Given the description of an element on the screen output the (x, y) to click on. 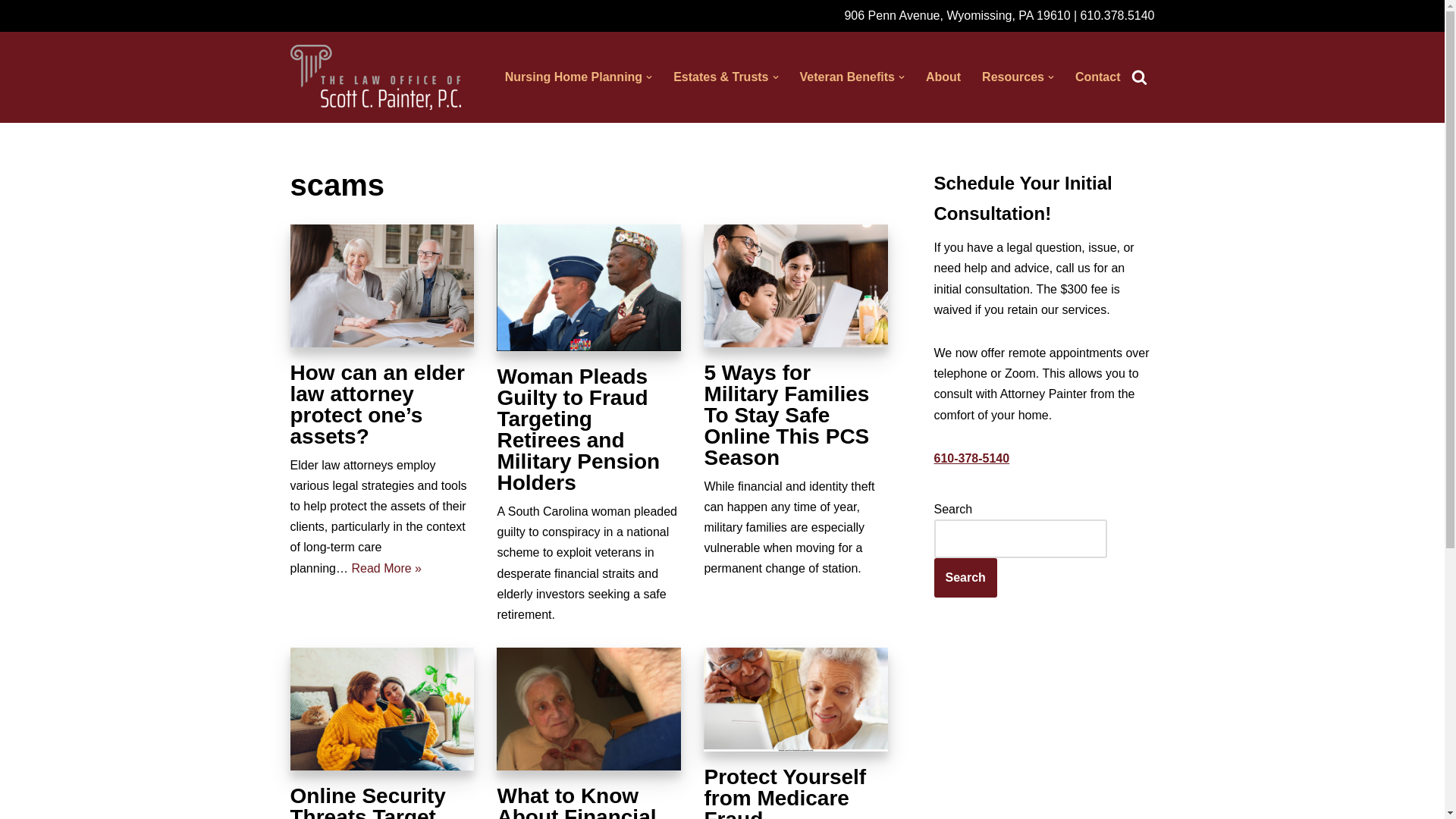
Nursing Home Planning (573, 76)
About (943, 76)
What to Know About Financial Exploitation of the Aged (588, 708)
Contact (1098, 76)
Protect Yourself from Medicare Fraud (795, 699)
Online Security Threats Target Seniors but Can Be Thwarted (381, 708)
Resources (1012, 76)
Skip to content (11, 31)
Veteran Benefits (847, 76)
